Given the description of an element on the screen output the (x, y) to click on. 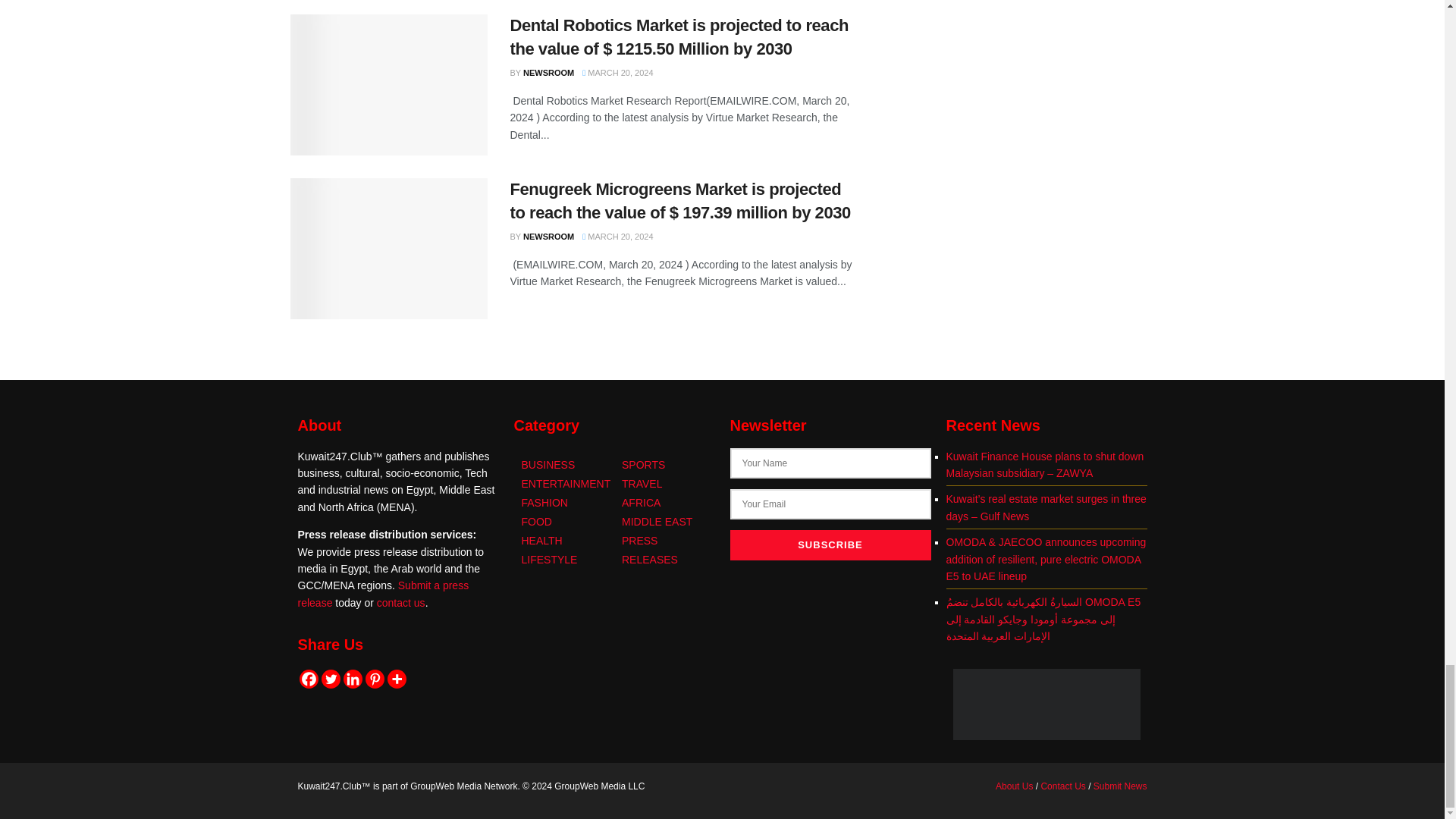
Linkedin (351, 678)
Facebook (307, 678)
Twitter (330, 678)
More (396, 678)
Pinterest (374, 678)
SUBSCRIBE (829, 544)
